Given the description of an element on the screen output the (x, y) to click on. 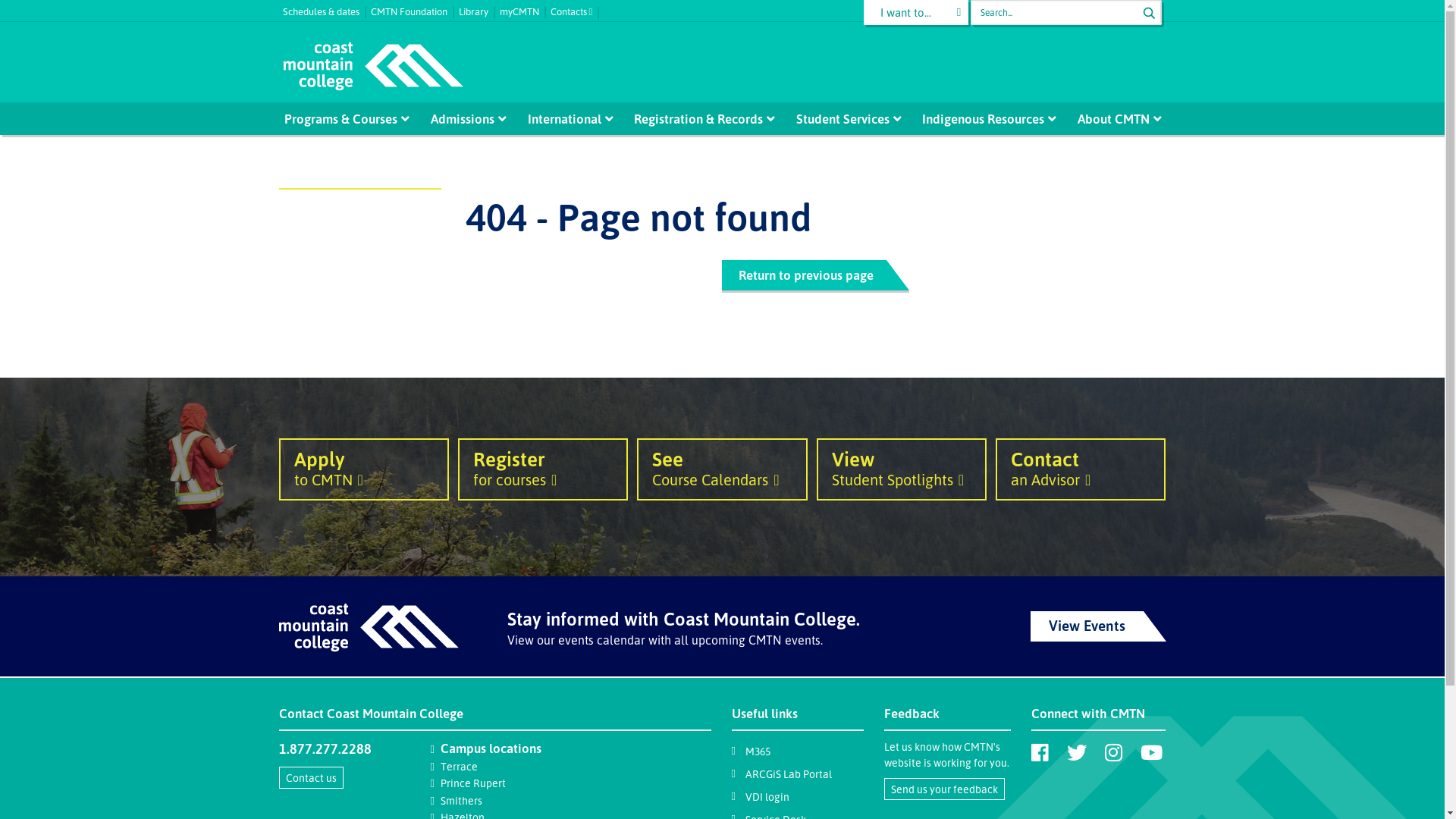
Contact
an Advisor Element type: text (1080, 469)
footer-logo Element type: hover (368, 627)
Search Element type: text (1148, 12)
myCMTN Element type: text (523, 7)
cmtn_logo Element type: hover (372, 66)
Prince Rupert Element type: text (472, 782)
View Events Element type: text (1097, 626)
1.877.277.2288 Element type: text (325, 748)
Indigenous Resources Element type: text (983, 118)
Apply
to CMTN Element type: text (363, 469)
See
Course Calendars Element type: text (721, 469)
Schedules & dates Element type: text (326, 7)
Register
for courses Element type: text (542, 469)
Terrace Element type: text (458, 765)
View
Student Spotlights Element type: text (901, 469)
Admissions Element type: text (462, 118)
Send us your feedback Element type: text (944, 789)
Registration & Records Element type: text (698, 118)
Contacts Element type: text (577, 7)
M365 Element type: text (756, 750)
Campus locations Element type: text (490, 748)
Contact us Element type: text (311, 777)
VDI login Element type: text (766, 796)
Return to previous page Element type: text (803, 275)
Student Services Element type: text (843, 118)
I want to... Element type: text (915, 12)
International Element type: text (564, 118)
CMTN Foundation Element type: text (414, 7)
Smithers Element type: text (461, 799)
Library Element type: text (478, 7)
About CMTN Element type: text (1113, 118)
Programs & Courses Element type: text (339, 118)
ARCGiS Lab Portal Element type: text (787, 773)
